Given the description of an element on the screen output the (x, y) to click on. 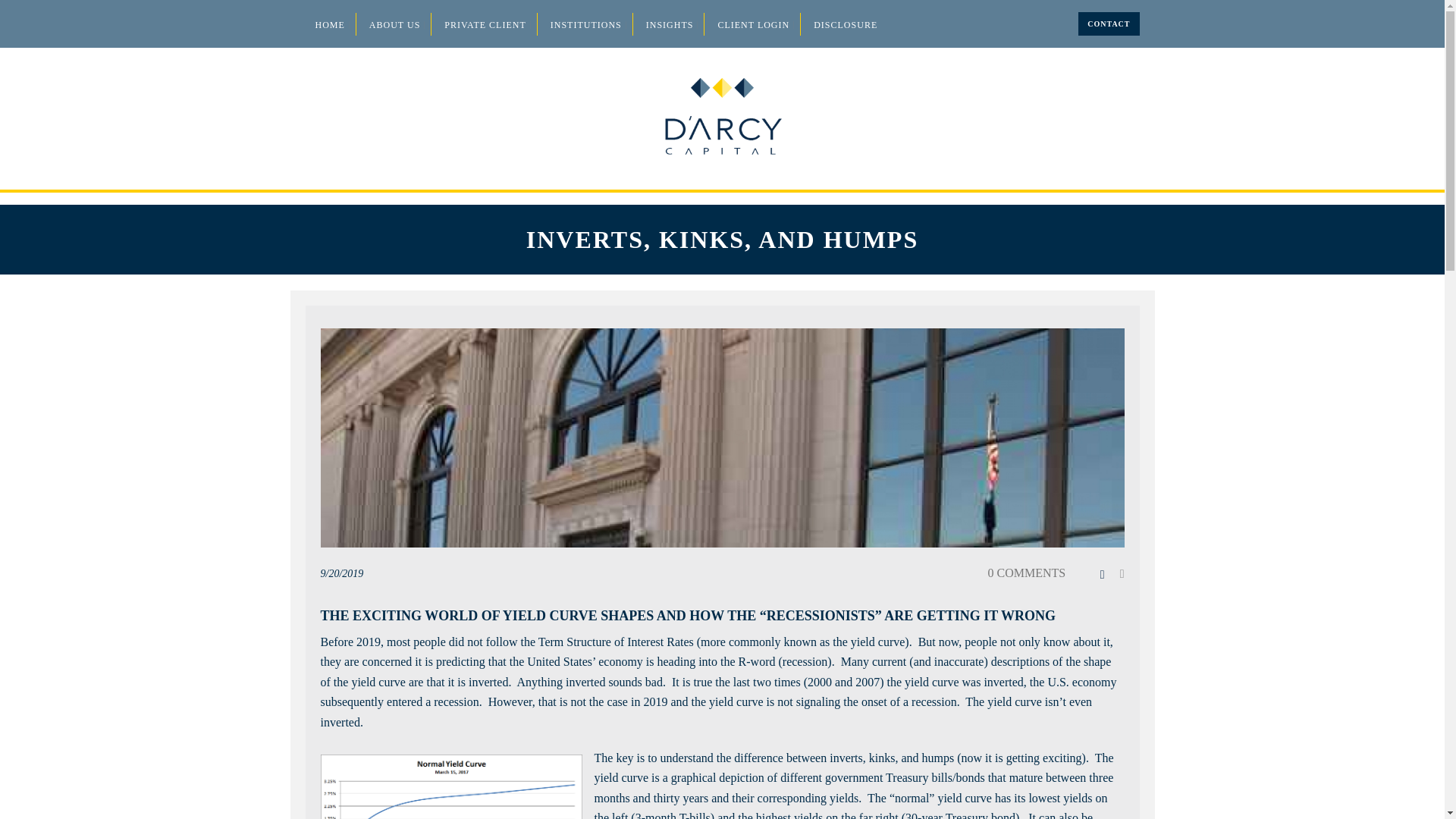
INSTITUTIONS (586, 24)
PRIVATE CLIENT (485, 24)
ABOUT US (395, 24)
INSIGHTS (670, 24)
CLIENT LOGIN (753, 24)
D'Arcy Capital (722, 118)
Inverts, Kinks, and Humps (722, 436)
CONTACT (1108, 23)
DISCLOSURE (844, 24)
